Given the description of an element on the screen output the (x, y) to click on. 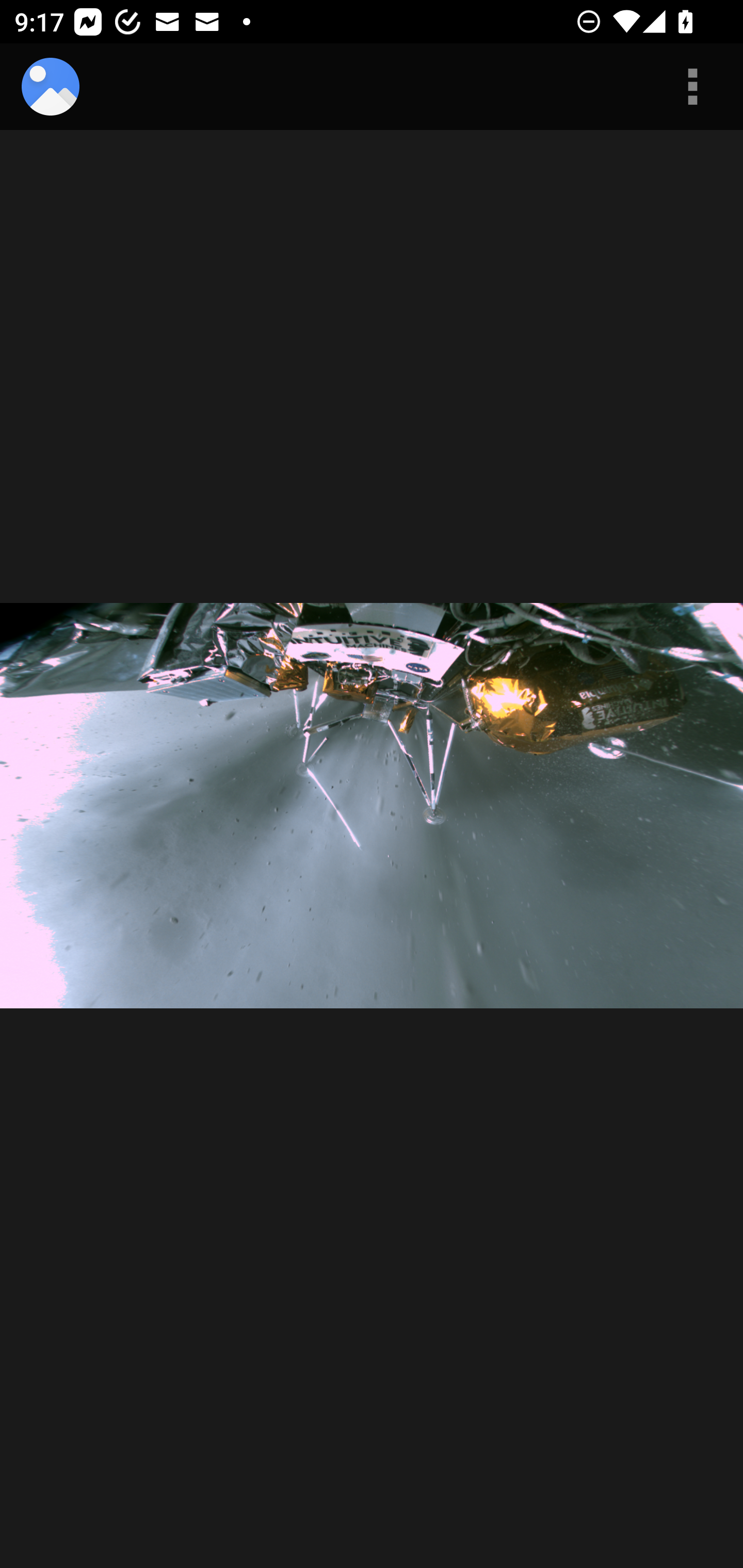
More options (692, 86)
